Given the description of an element on the screen output the (x, y) to click on. 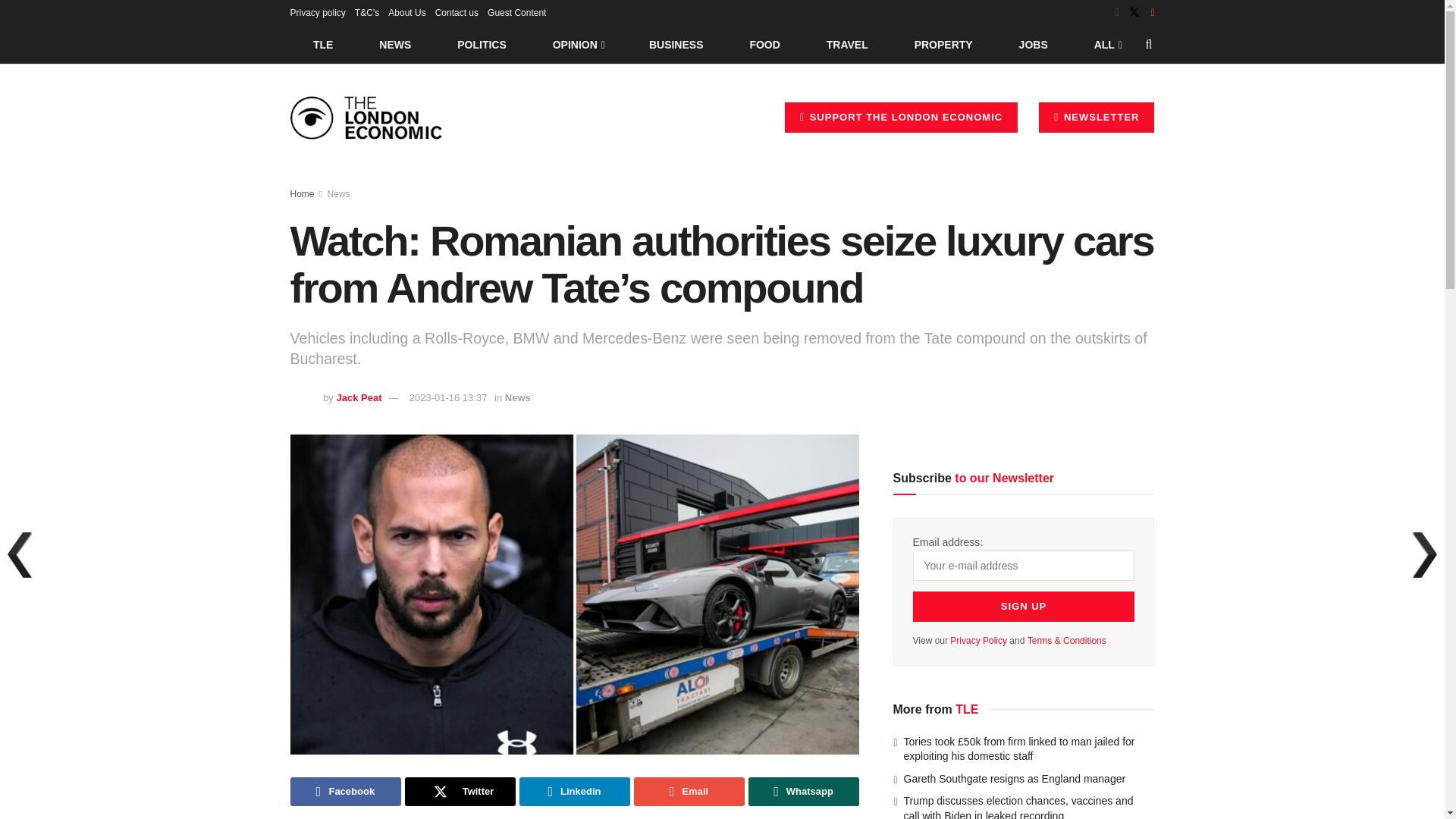
About Us (406, 12)
Privacy policy (317, 12)
SUPPORT THE LONDON ECONOMIC (900, 117)
PROPERTY (943, 44)
Guest Content (516, 12)
BUSINESS (676, 44)
POLITICS (481, 44)
Sign up (1023, 606)
TRAVEL (847, 44)
Home (301, 194)
NEWSLETTER (1096, 117)
ALL (1106, 44)
TLE (322, 44)
FOOD (764, 44)
OPINION (577, 44)
